Given the description of an element on the screen output the (x, y) to click on. 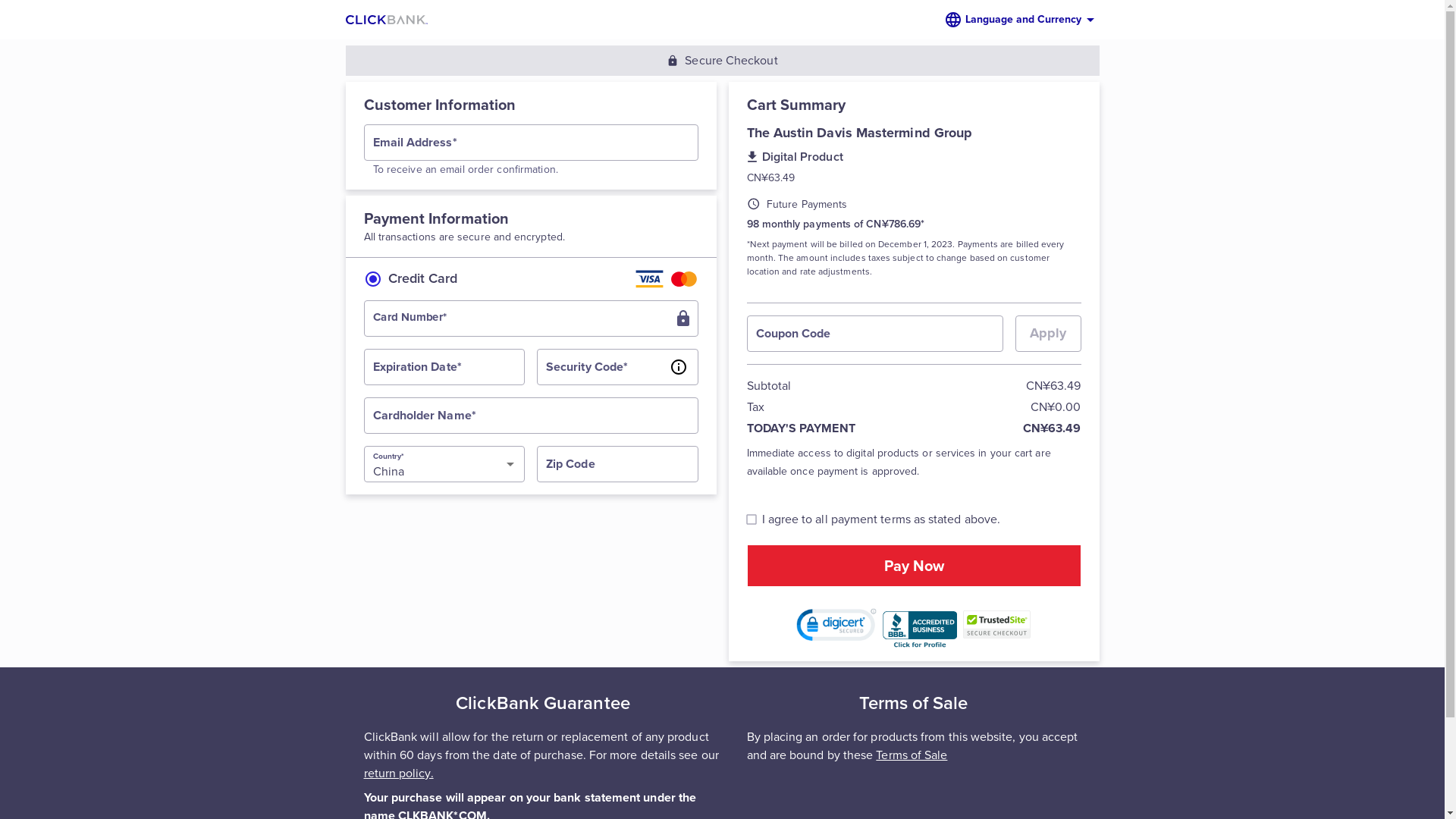
Language and Currency Element type: text (1021, 19)
Apply Element type: text (1048, 333)
Pay Now Element type: text (913, 565)
TokenX card number iframe Element type: hover (531, 318)
return policy. Element type: text (398, 772)
TrustedSite Certified Element type: hover (997, 624)
Terms of Sale Element type: text (911, 754)
